Given the description of an element on the screen output the (x, y) to click on. 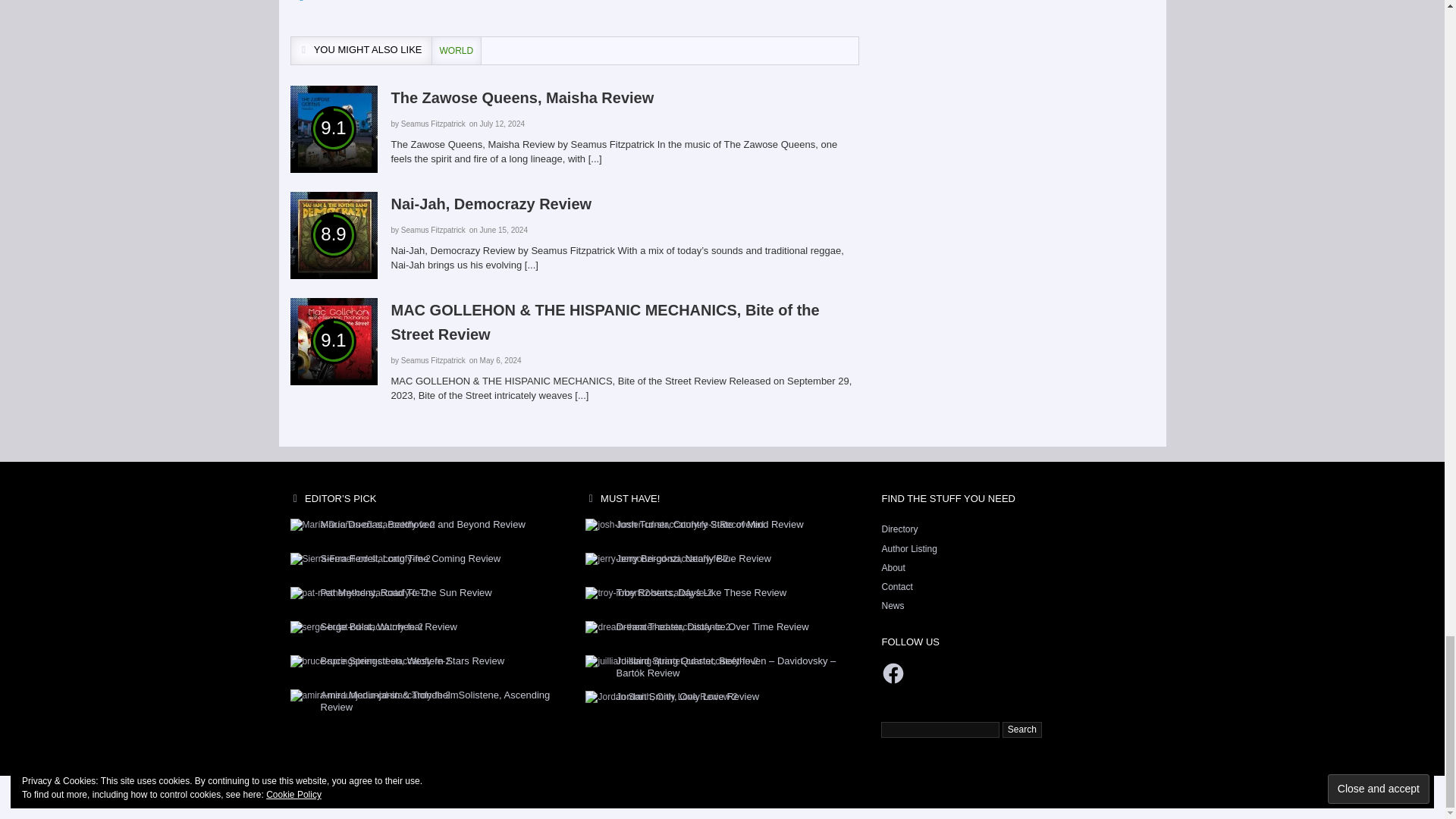
Search (1022, 729)
